Given the description of an element on the screen output the (x, y) to click on. 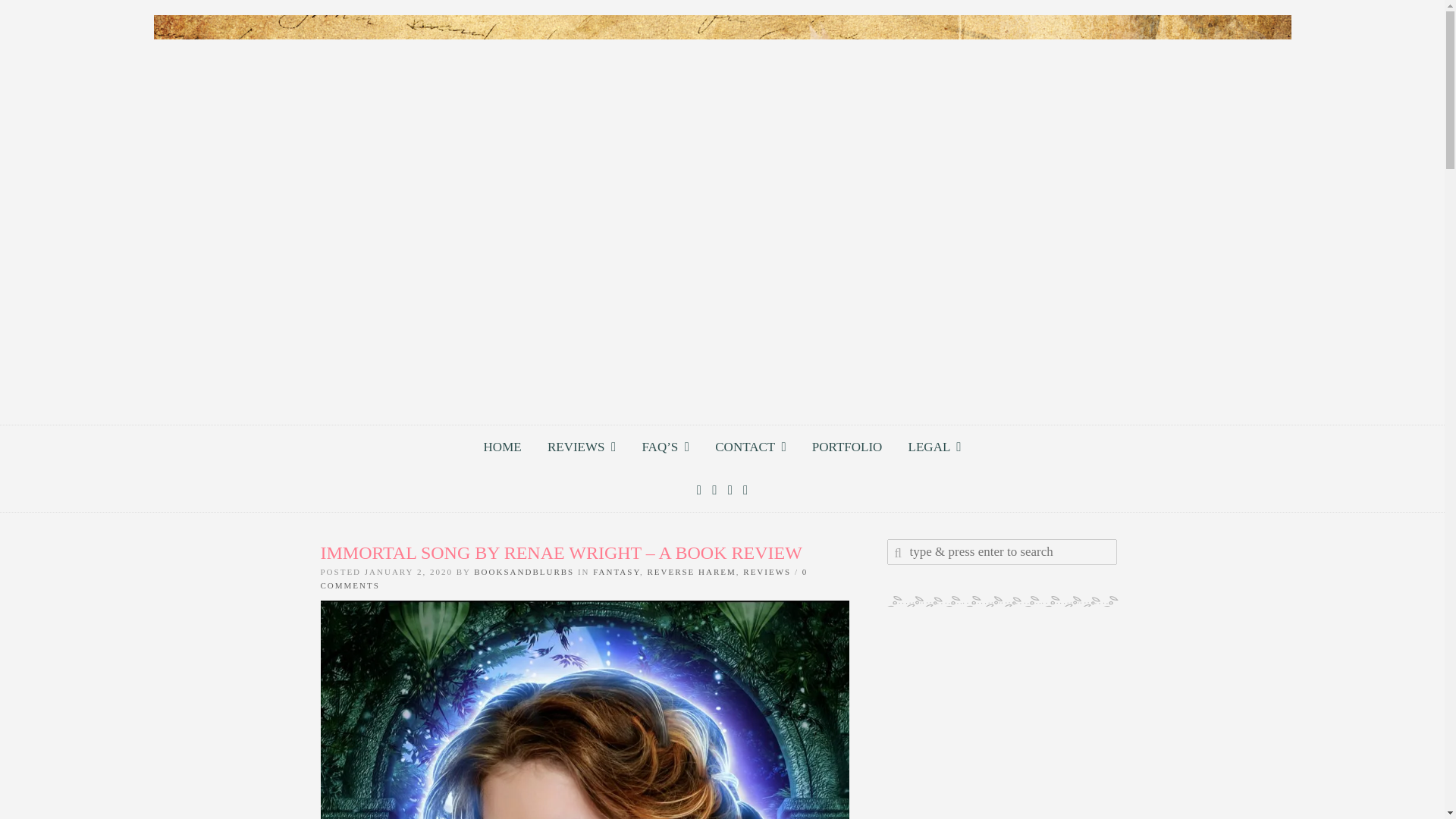
REVIEWS (766, 571)
REVERSE HAREM (690, 571)
FANTASY (616, 571)
CONTACT   (749, 446)
View all posts in Reviews (766, 571)
REVIEWS   (581, 446)
BOOKSANDBLURBS (523, 571)
PORTFOLIO (846, 446)
View all posts in Fantasy (616, 571)
LEGAL   (934, 446)
